Given the description of an element on the screen output the (x, y) to click on. 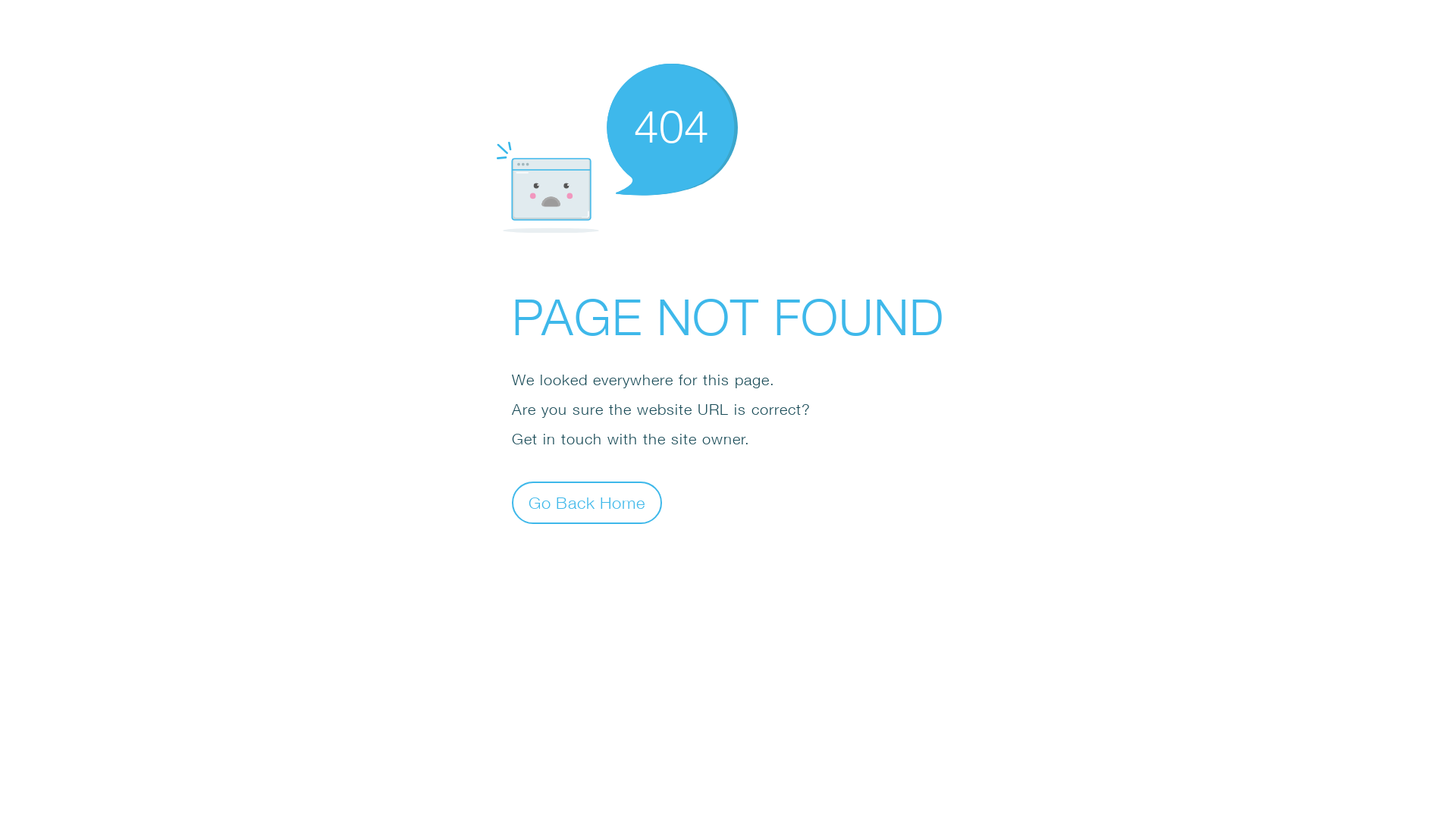
Go Back Home Element type: text (586, 502)
